Given the description of an element on the screen output the (x, y) to click on. 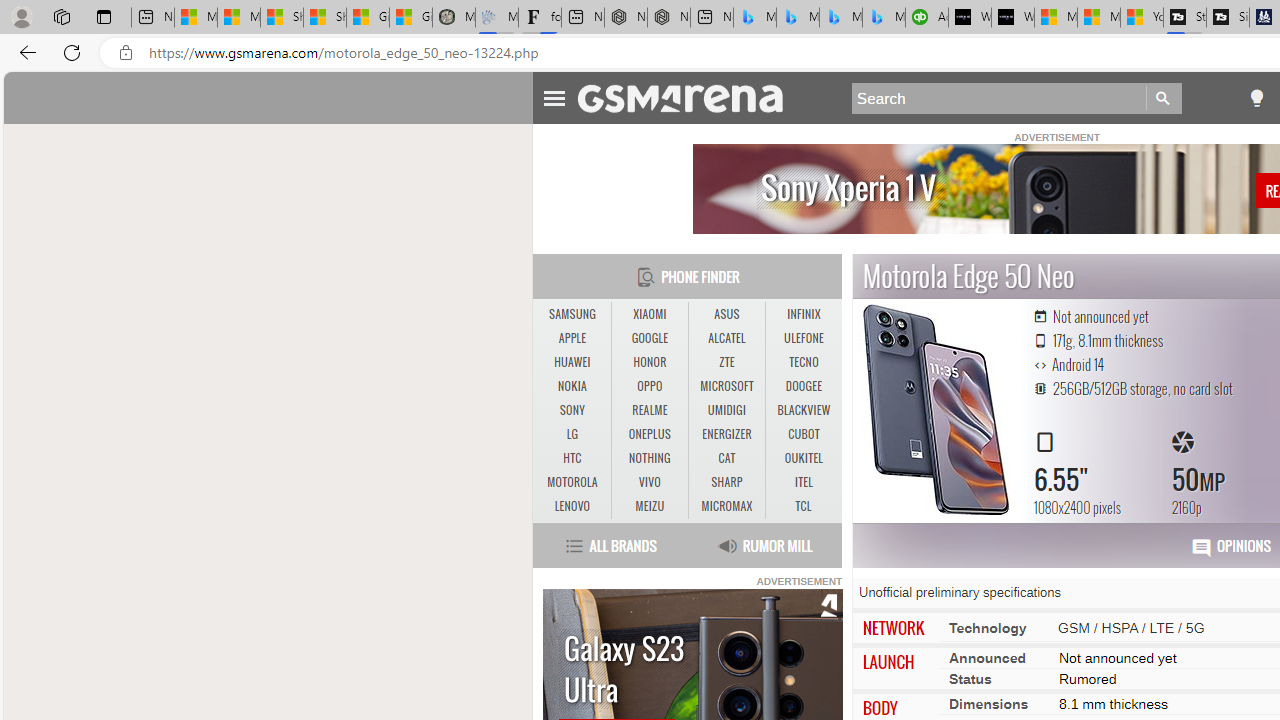
MICROSOFT (726, 385)
MOTOROLA (571, 483)
Accounting Software for Accountants, CPAs and Bookkeepers (927, 17)
ZTE (726, 362)
UMIDIGI (726, 410)
GOOGLE (649, 338)
UMIDIGI (726, 411)
HTC (571, 457)
Motorola Edge 50 Neo MORE PICTURES (937, 409)
OPPO (649, 386)
